Given the description of an element on the screen output the (x, y) to click on. 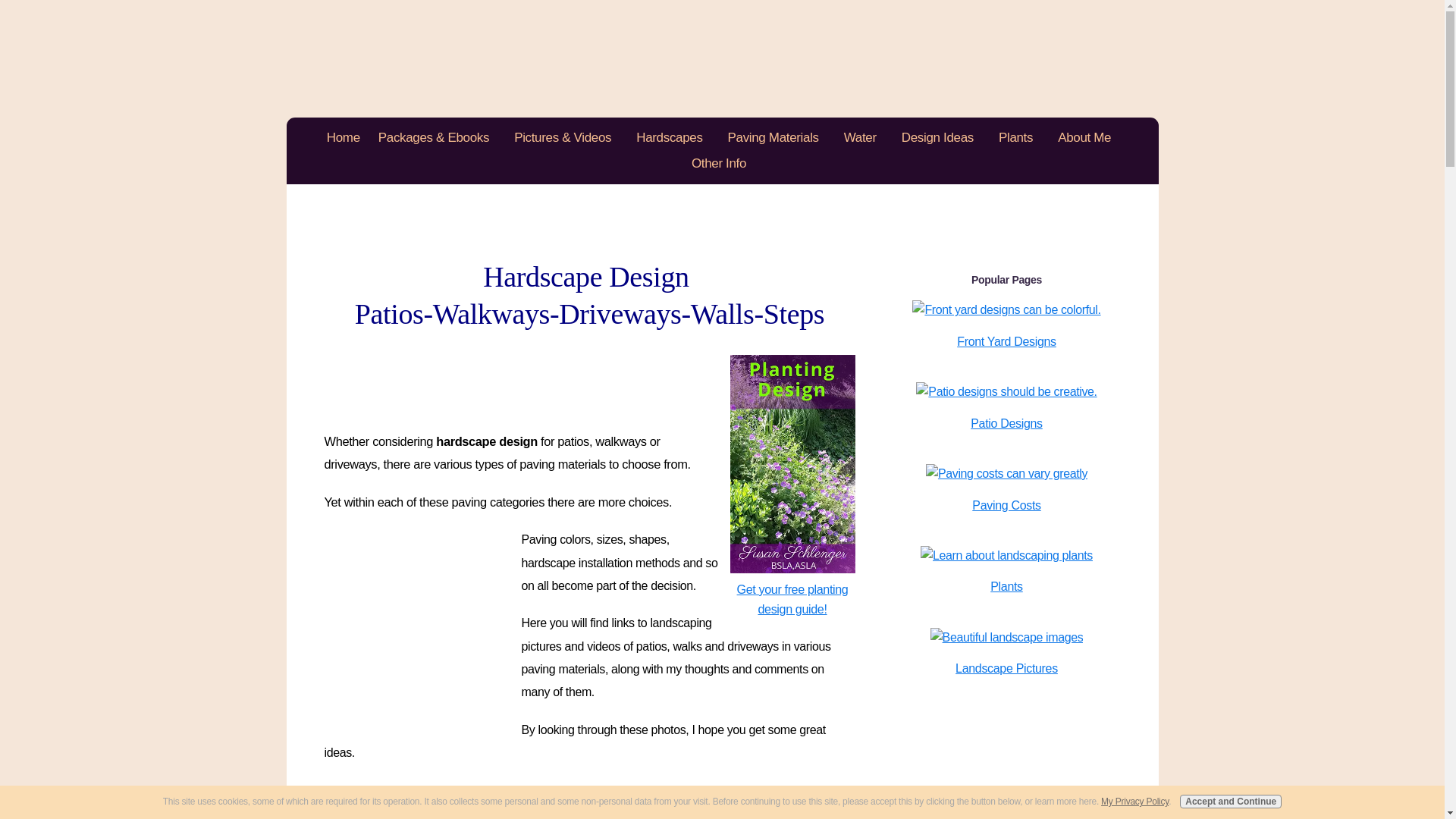
Front yard designs can be colorful. (1006, 310)
Get your free planting design guide! (787, 589)
Home (343, 137)
Go to Patio Designs and Creative Ideas (1005, 391)
Go to Planting Design Guide (787, 589)
Patio designs should be creative. (1005, 392)
Go to Creative Front Yard Landscaping ideas (1006, 309)
My Website (722, 58)
Advertisement (421, 619)
